Given the description of an element on the screen output the (x, y) to click on. 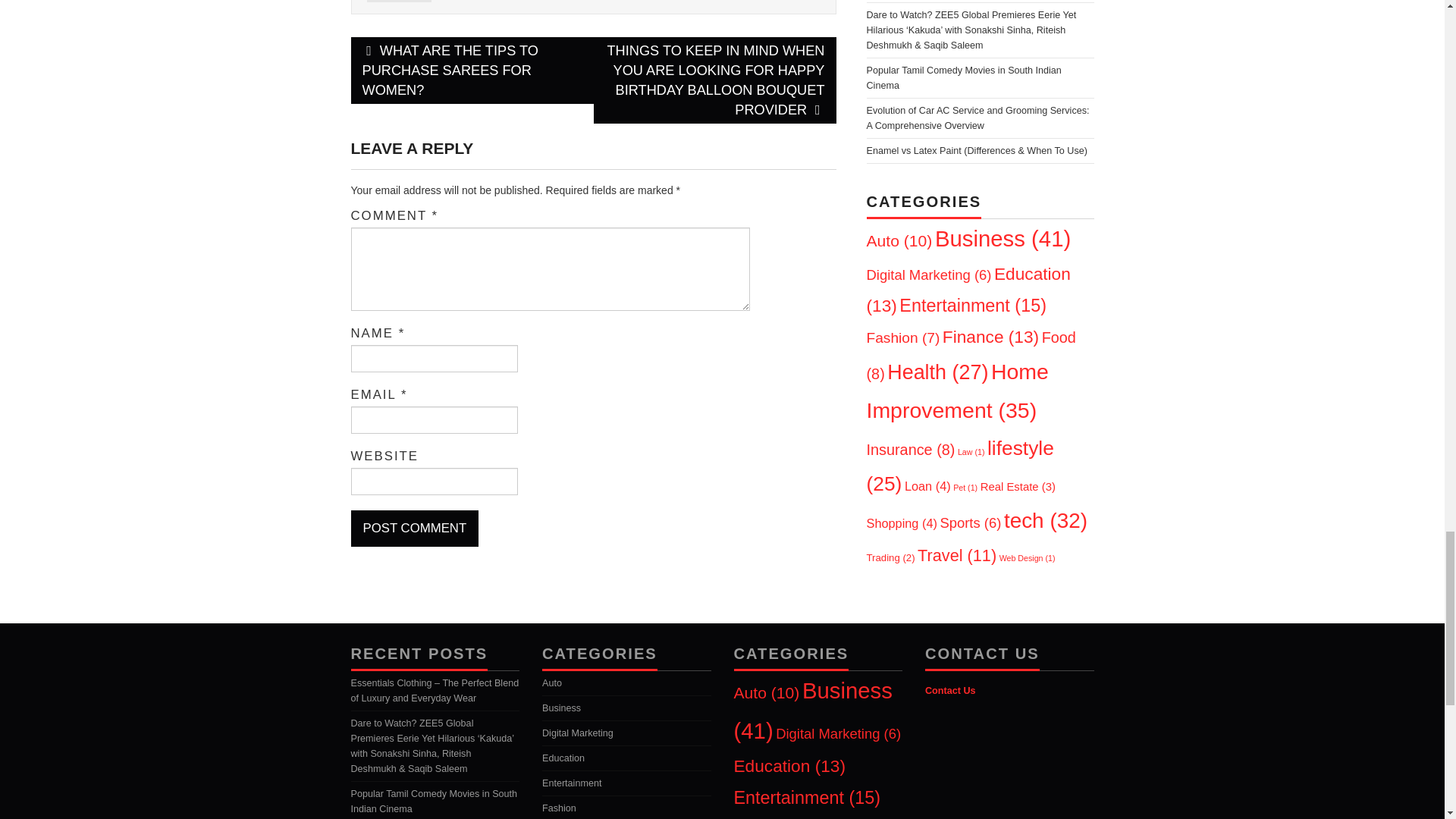
Post Comment (414, 528)
WHAT ARE THE TIPS TO PURCHASE SAREES FOR WOMEN? (471, 70)
Post Comment (414, 528)
